Given the description of an element on the screen output the (x, y) to click on. 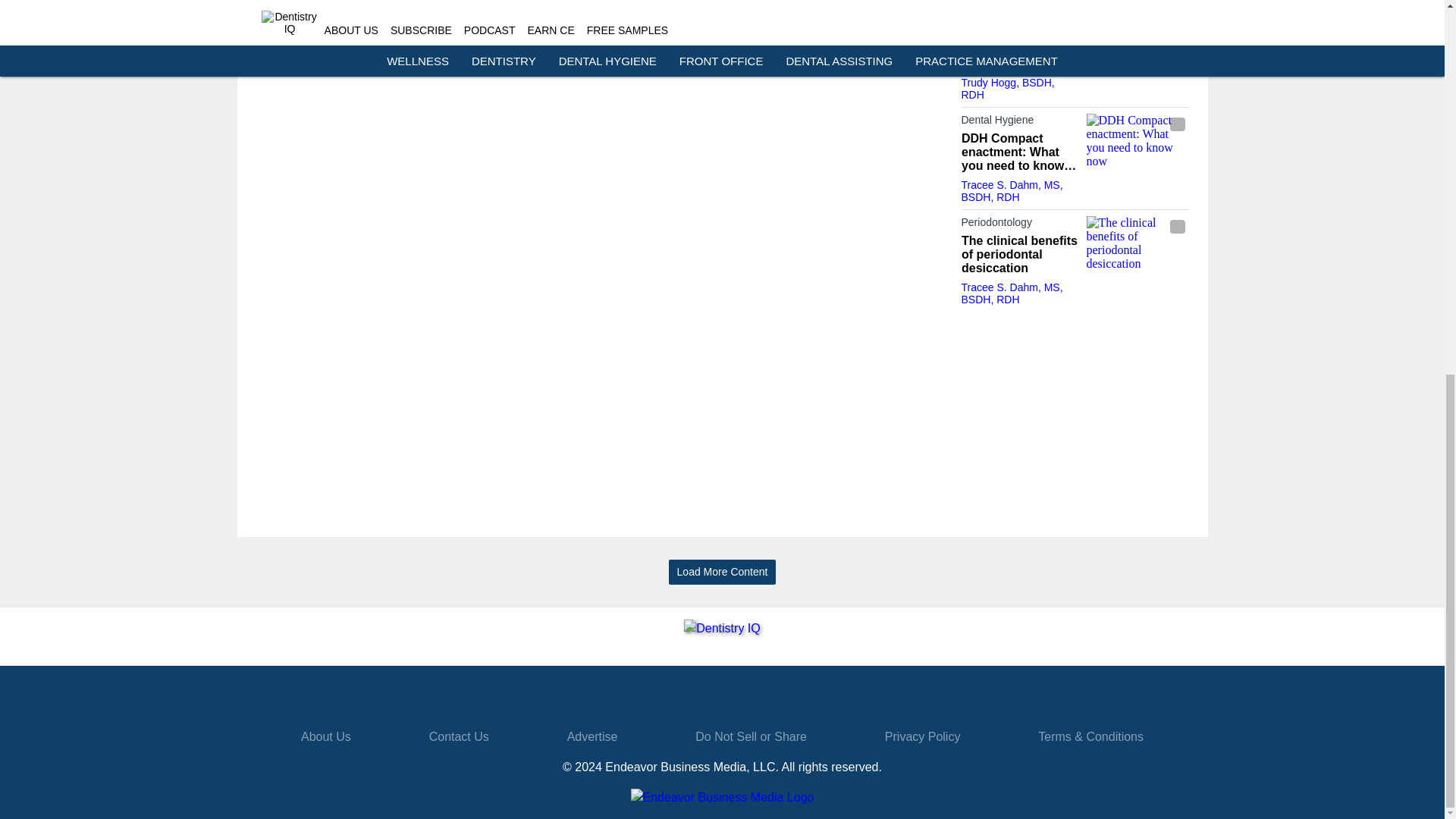
The clinical benefits of periodontal desiccation (1137, 244)
Career Development (1019, 34)
Dental Hygiene (1019, 122)
DDH Compact enactment: What you need to know now (1019, 151)
4 tips for your best job interview (1019, 56)
Trudy Hogg, BSDH, RDH (1007, 88)
DDH Compact enactment: What you need to know now (1137, 141)
